Given the description of an element on the screen output the (x, y) to click on. 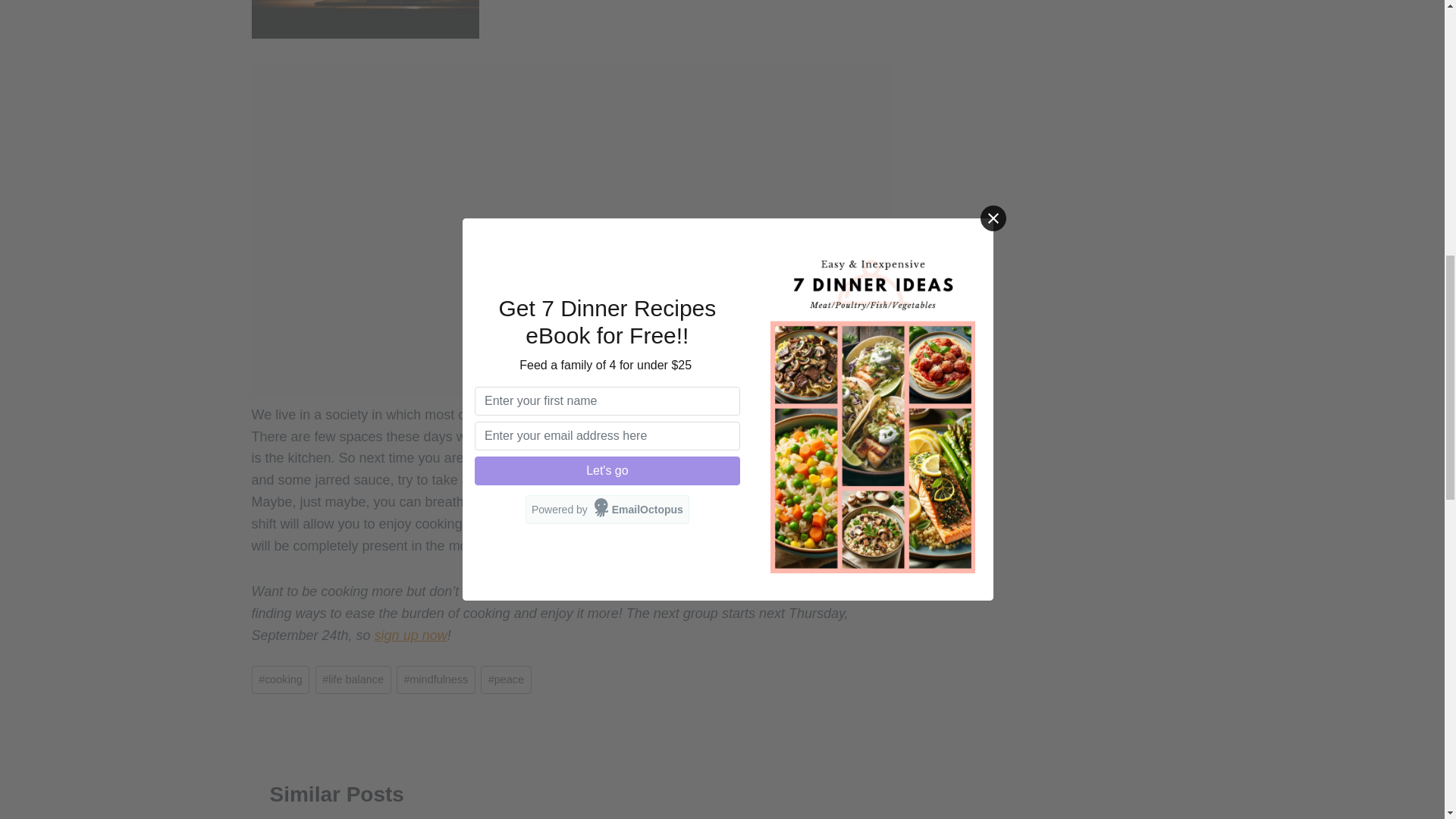
cooking (280, 679)
life balance (353, 679)
sign up now (410, 635)
mindfulness (436, 679)
10-Day Cooking Challenge (724, 590)
peace (505, 679)
